Given the description of an element on the screen output the (x, y) to click on. 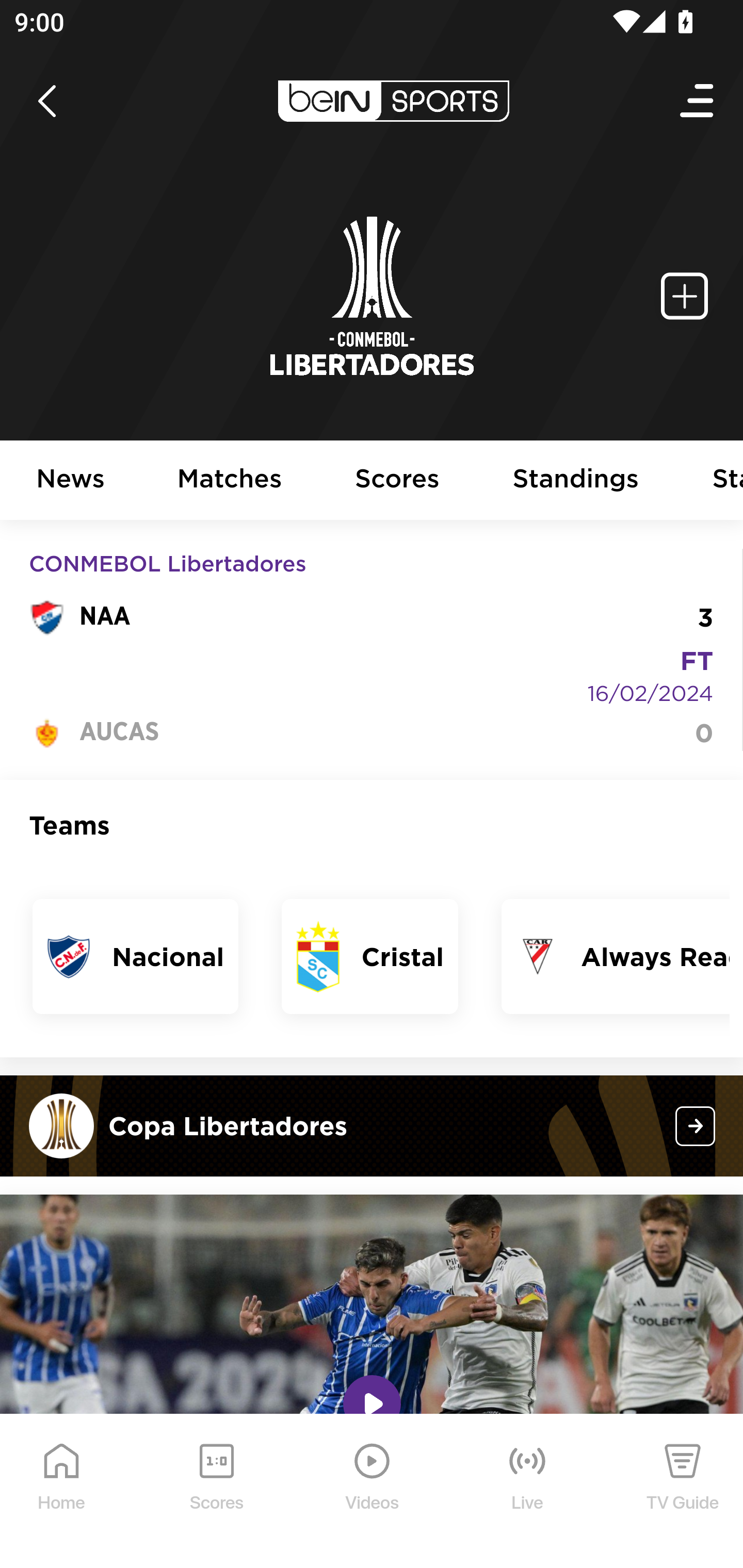
en-us?platform=mobile_android bein logo white (392, 101)
icon back (46, 101)
Open Menu Icon (697, 101)
News (70, 480)
Matches (229, 480)
Scores (397, 480)
Standings (575, 480)
Nacional Nacional Nacional (135, 956)
Cristal Cristal Cristal (370, 956)
Always Ready Always Ready Always Ready (615, 956)
conmebol-libertadores?platform=mobile_android (695, 1125)
Home Home Icon Home (61, 1491)
Scores Scores Icon Scores (216, 1491)
Videos Videos Icon Videos (372, 1491)
TV Guide TV Guide Icon TV Guide (682, 1491)
